Given the description of an element on the screen output the (x, y) to click on. 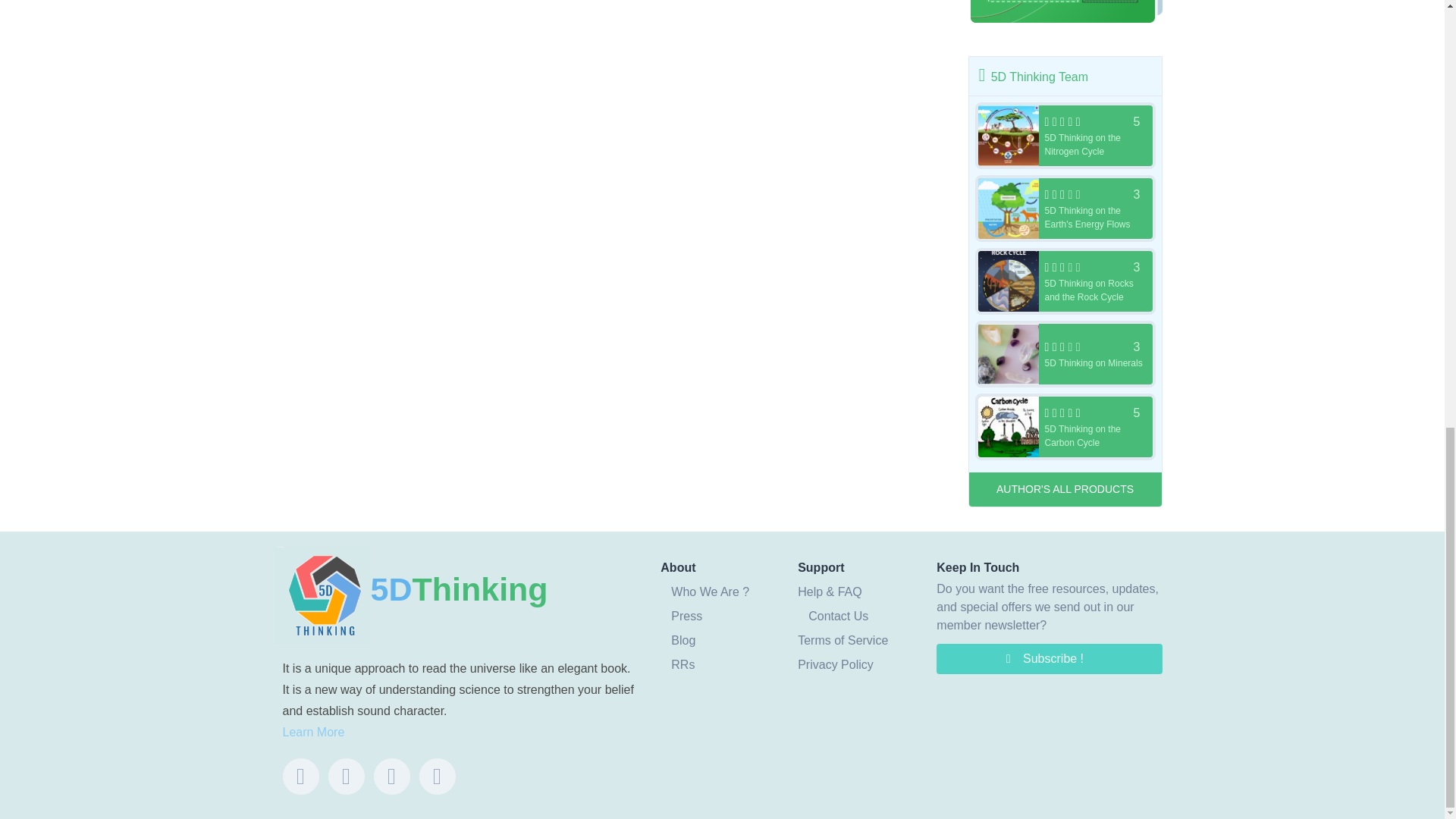
5D Thinking Team (1065, 354)
